Given the description of an element on the screen output the (x, y) to click on. 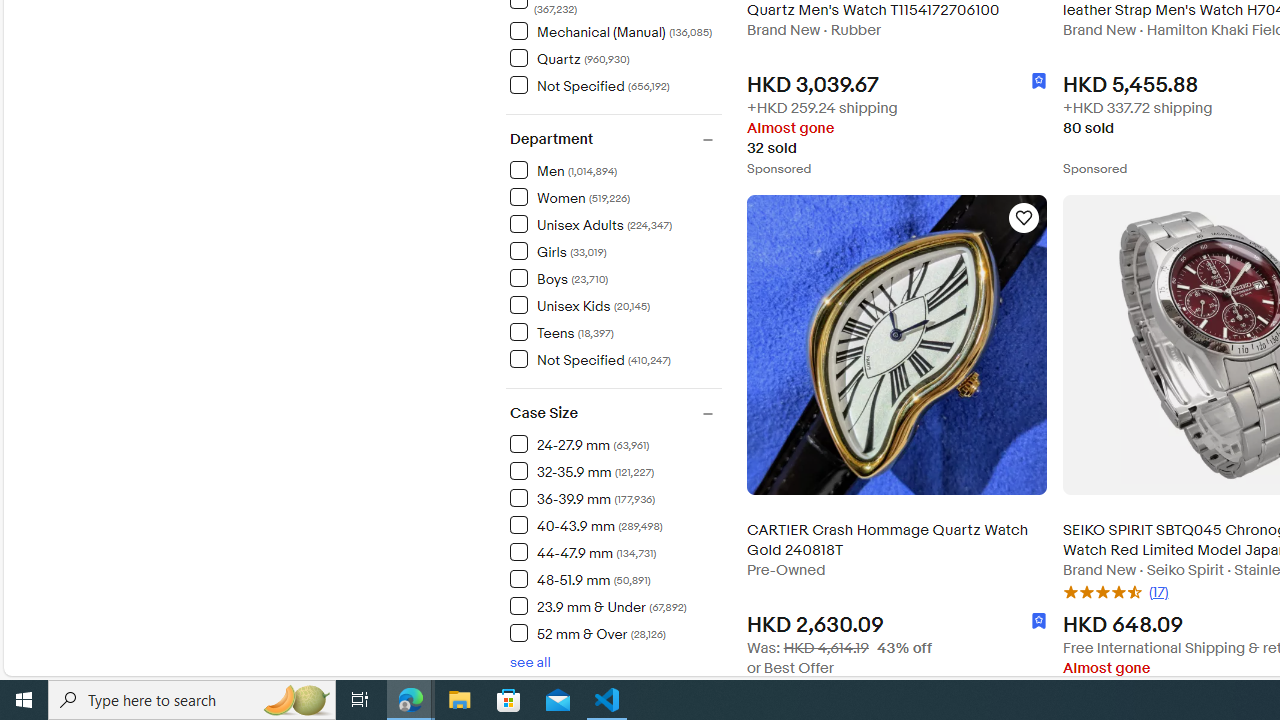
Women(519,226) Items (615, 196)
23.9 mm & Under (67,892) Items (598, 605)
Men (1,014,894) Items (563, 170)
44-47.9 mm (134,731) Items (582, 551)
24-27.9 mm(63,961) Items (615, 443)
Unisex Kids (20,145) Items (580, 304)
Department (615, 140)
36-39.9 mm (177,936) Items (582, 497)
44-47.9 mm(134,731) Items (615, 551)
Unisex Kids(20,145) Items (615, 304)
24-27.9 mm (63,961) Items (579, 443)
Quartz (960,930) Items (569, 57)
40-43.9 mm(289,498) Items (615, 524)
48-51.9 mm (50,891) Items (580, 579)
Not Specified(410,247) Items (615, 358)
